Given the description of an element on the screen output the (x, y) to click on. 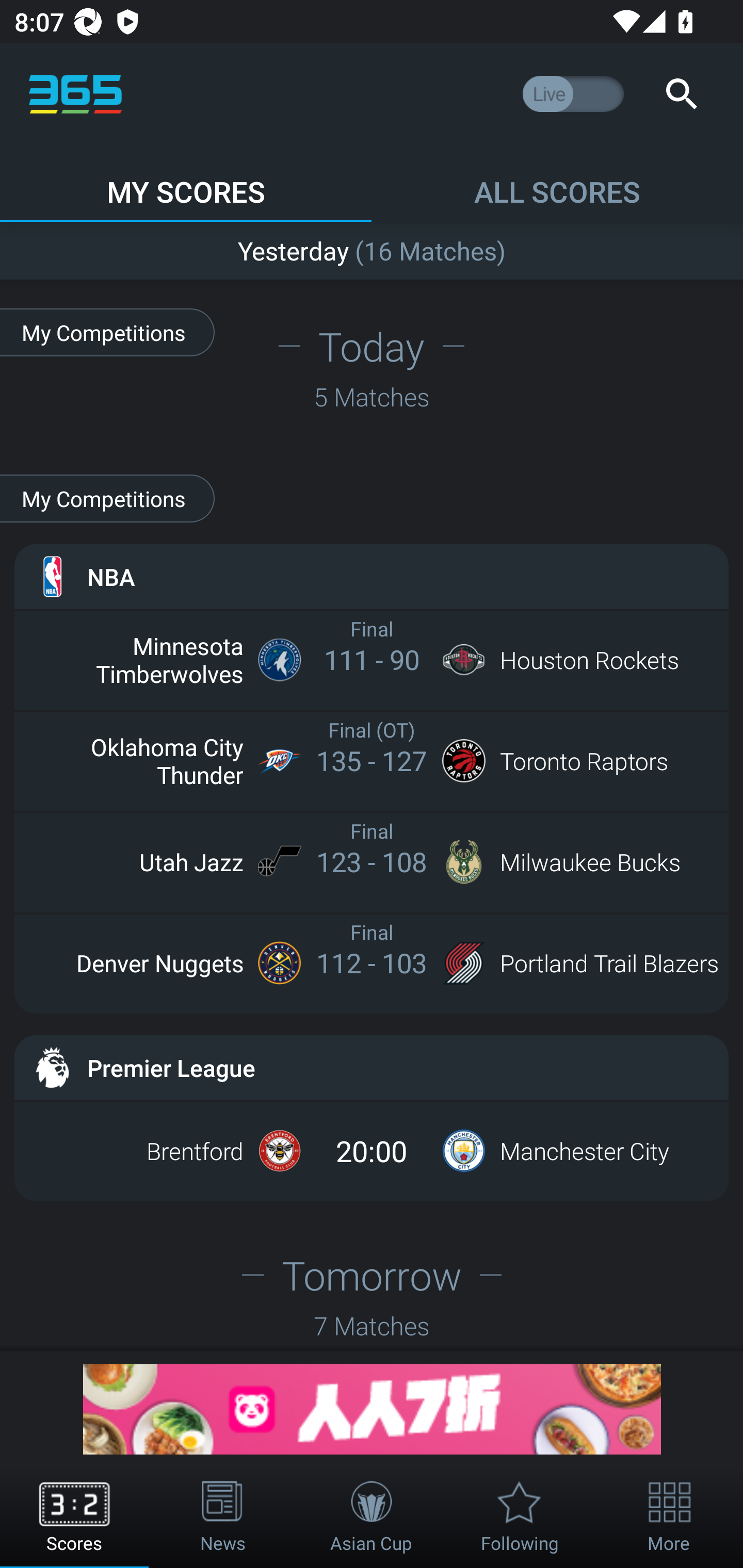
Search (681, 93)
MY SCORES (185, 182)
ALL SCORES (557, 182)
RB Leipzig 2 - 0 Union Berlin (371, 246)
NBA (371, 576)
Utah Jazz Final 123 - 108 Milwaukee Bucks (371, 861)
Premier League (371, 1067)
Brentford 20:00 Manchester City (371, 1150)
News (222, 1517)
Asian Cup (371, 1517)
Following (519, 1517)
More (668, 1517)
